Given the description of an element on the screen output the (x, y) to click on. 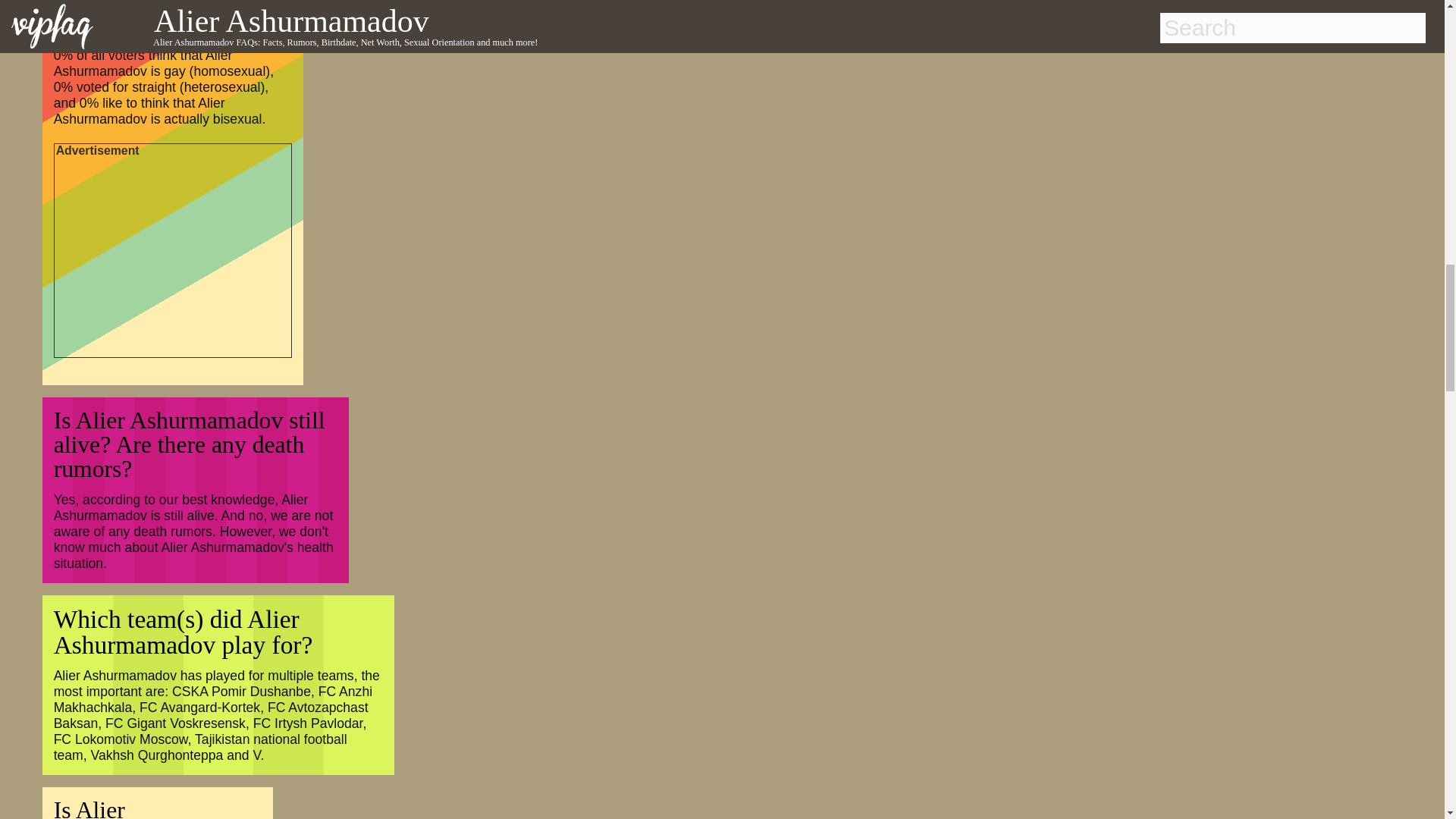
Bi (94, 12)
